Given the description of an element on the screen output the (x, y) to click on. 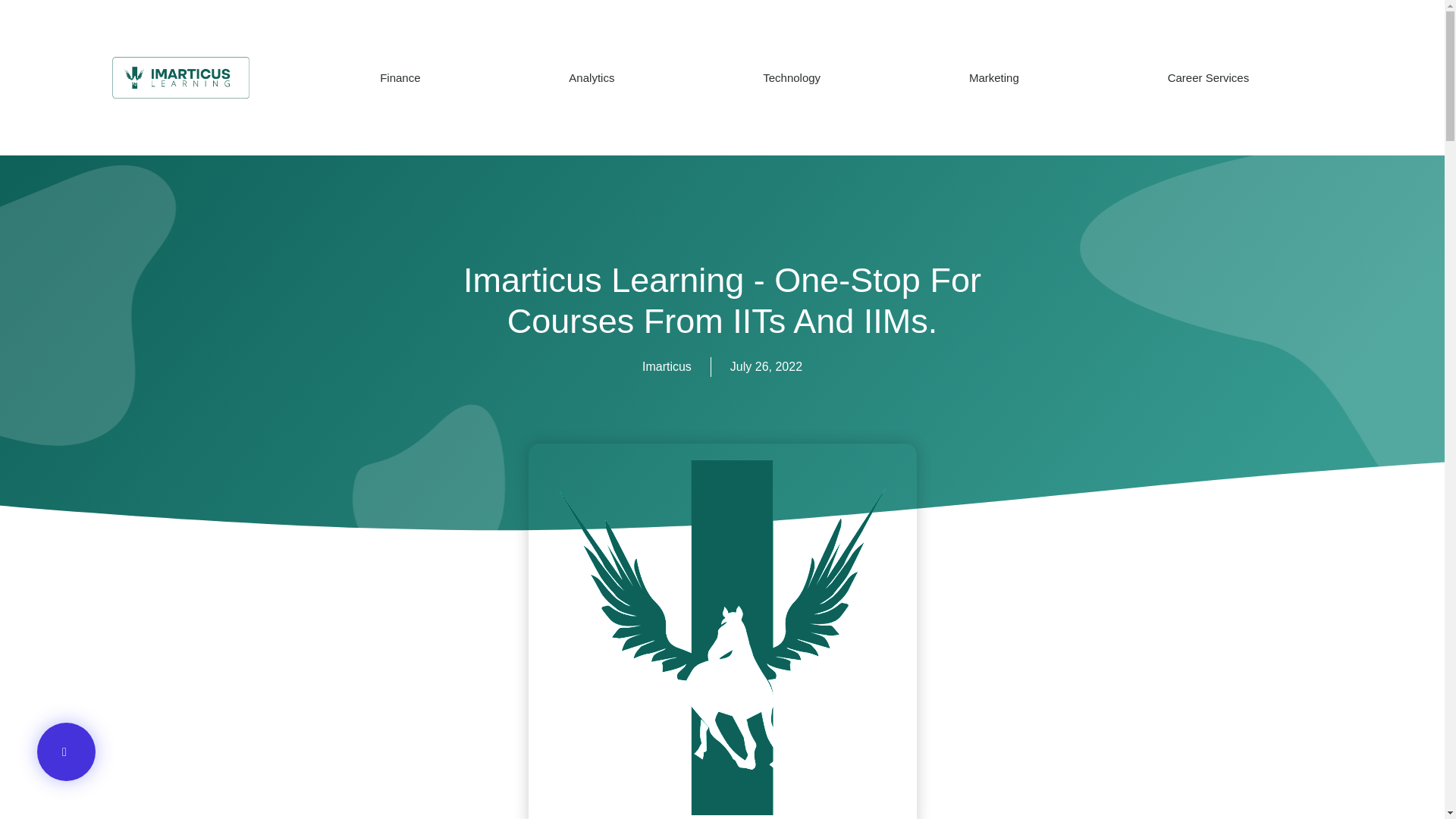
July 26, 2022 (766, 366)
Analytics (591, 77)
Finance (400, 77)
Technology (791, 77)
Imarticus (666, 366)
Marketing (994, 77)
Career Services (1208, 77)
